Given the description of an element on the screen output the (x, y) to click on. 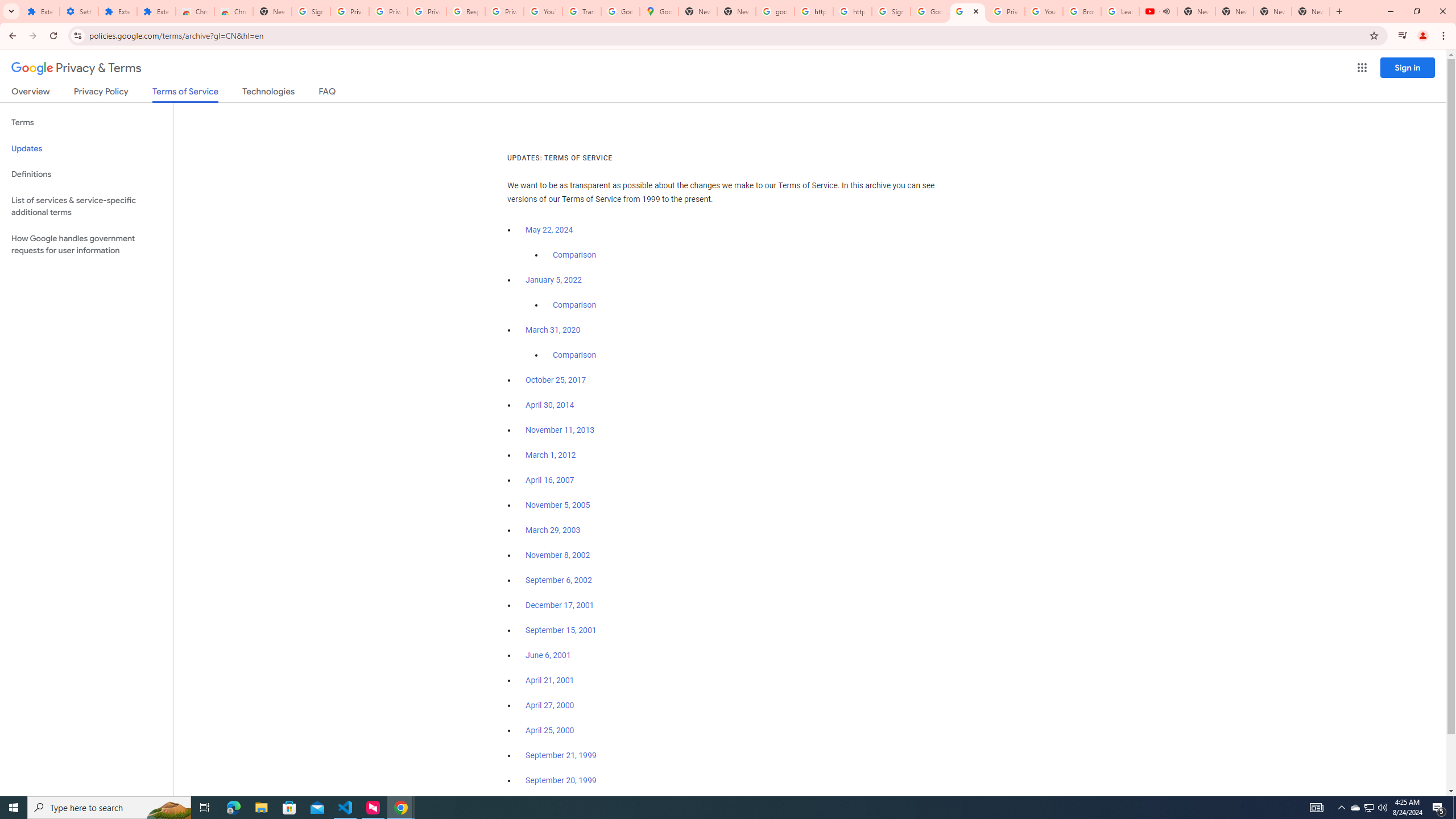
List of services & service-specific additional terms (86, 206)
April 21, 2001 (550, 679)
YouTube (542, 11)
